Given the description of an element on the screen output the (x, y) to click on. 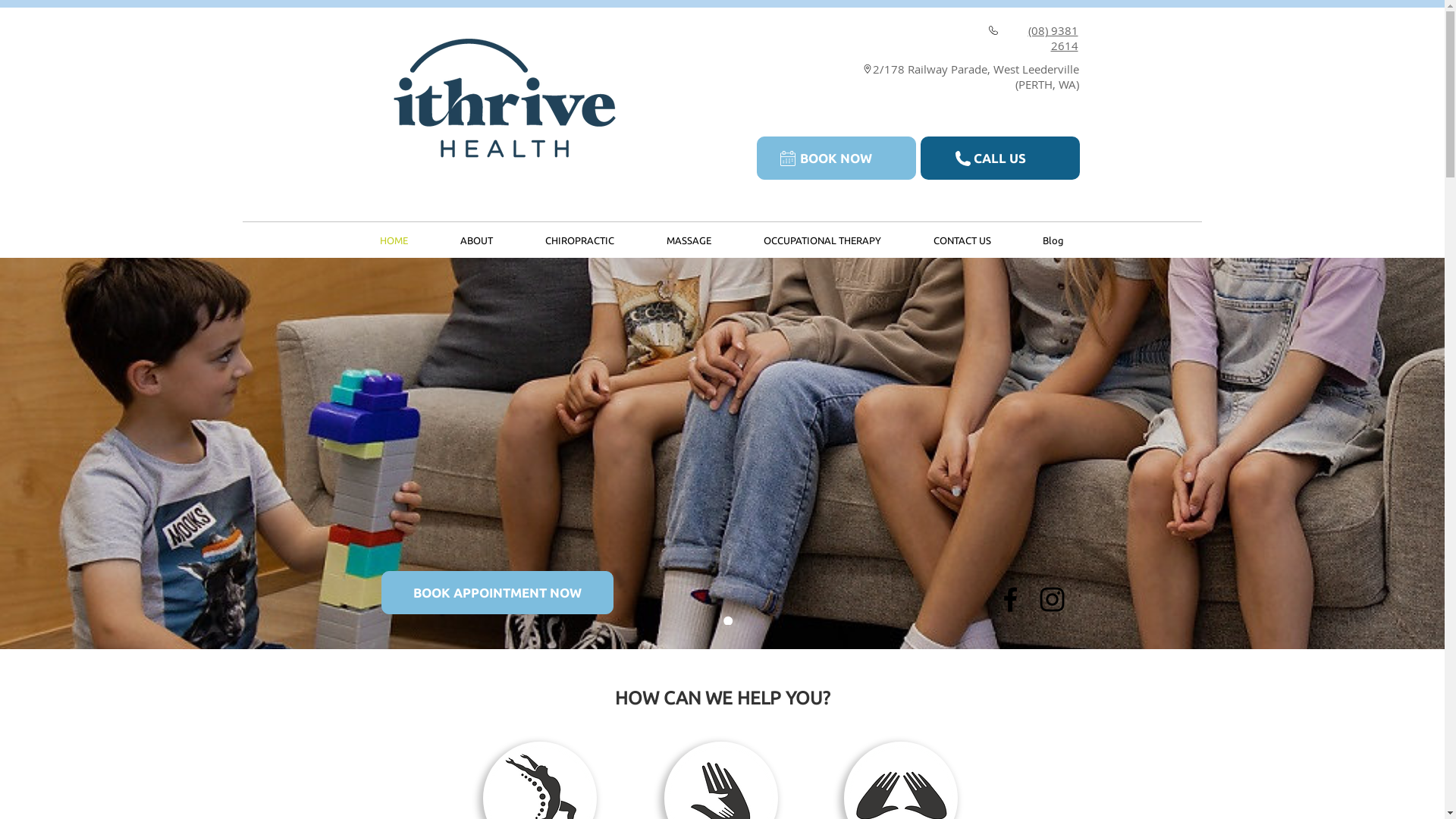
Blog Element type: text (1052, 240)
iThrive Health Element type: hover (496, 96)
BOOK NOW Element type: text (836, 157)
HOME Element type: text (393, 240)
2/178 Railway Parade, West Leederville (PERTH, WA) Element type: text (975, 76)
OCCUPATIONAL THERAPY Element type: text (821, 240)
BOOK APPOINTMENT NOW Element type: text (496, 592)
CHIROPRACTIC Element type: text (579, 240)
ABOUT Element type: text (475, 240)
CALL US Element type: text (999, 157)
(08) 9381 2614 Element type: text (1053, 37)
MASSAGE Element type: text (688, 240)
CONTACT US Element type: text (961, 240)
